Given the description of an element on the screen output the (x, y) to click on. 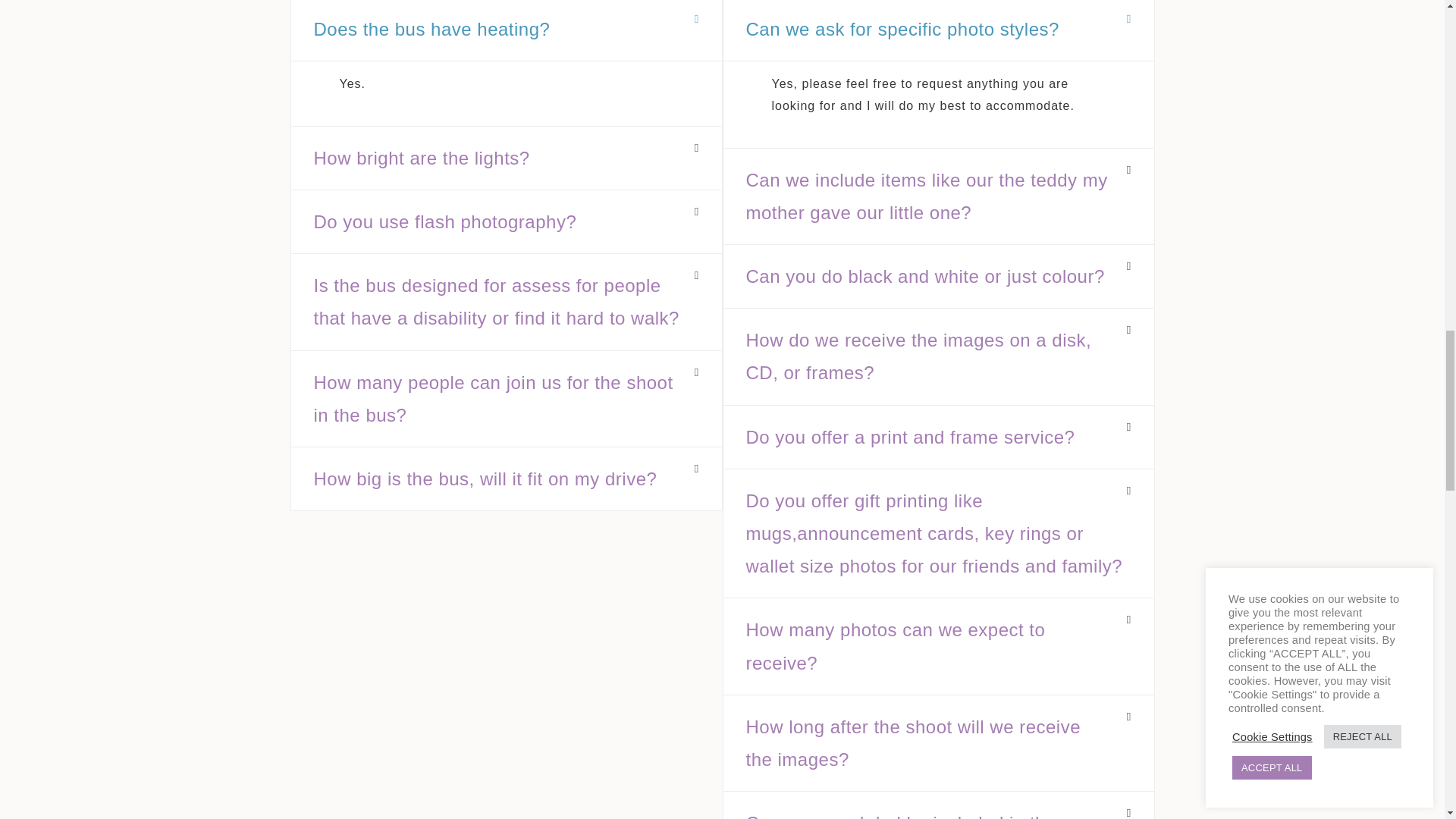
How bright are the lights? (421, 158)
Does the bus have heating? (432, 28)
Do you use flash photography? (445, 221)
